Given the description of an element on the screen output the (x, y) to click on. 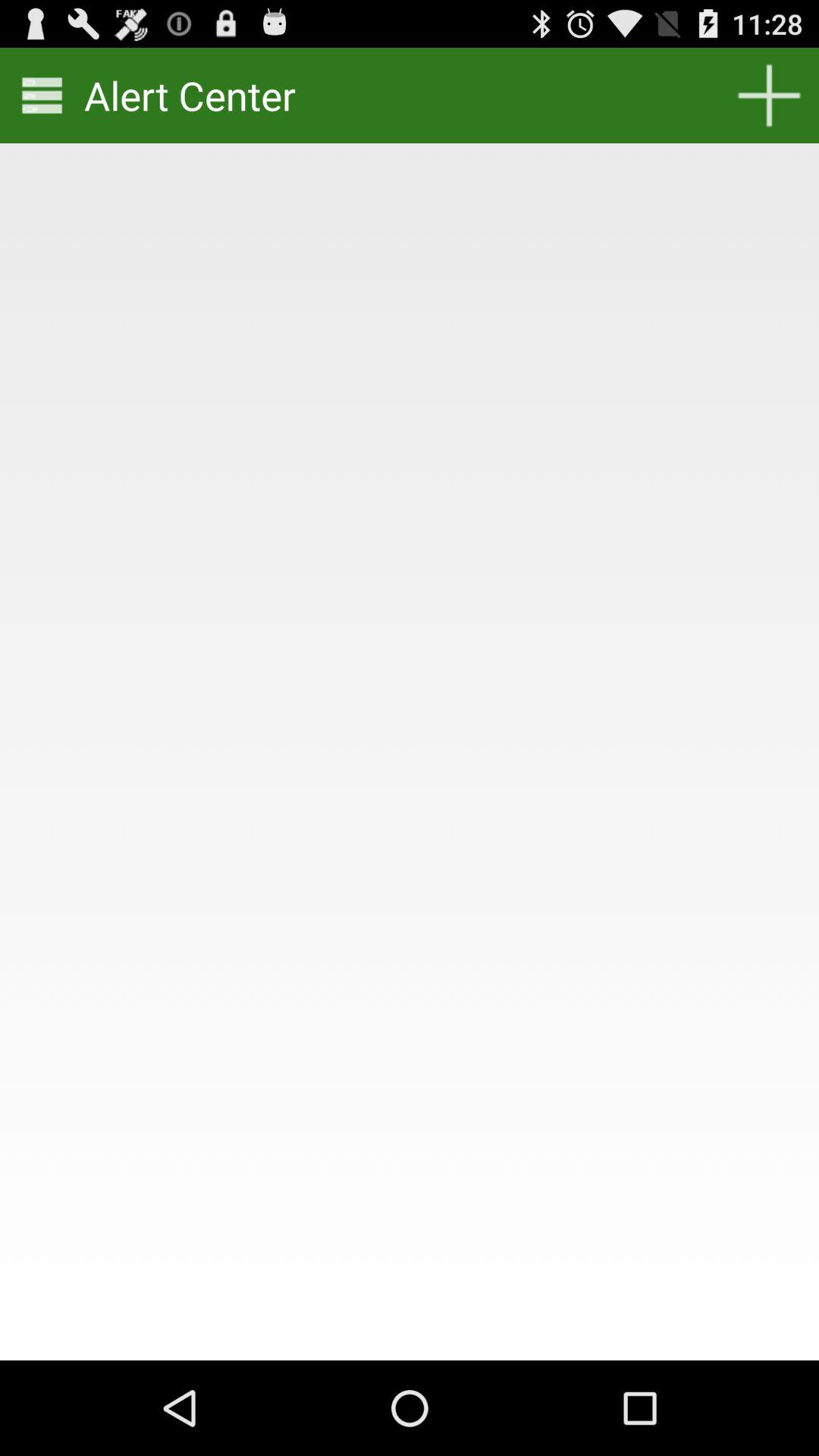
press icon at the center (409, 766)
